Given the description of an element on the screen output the (x, y) to click on. 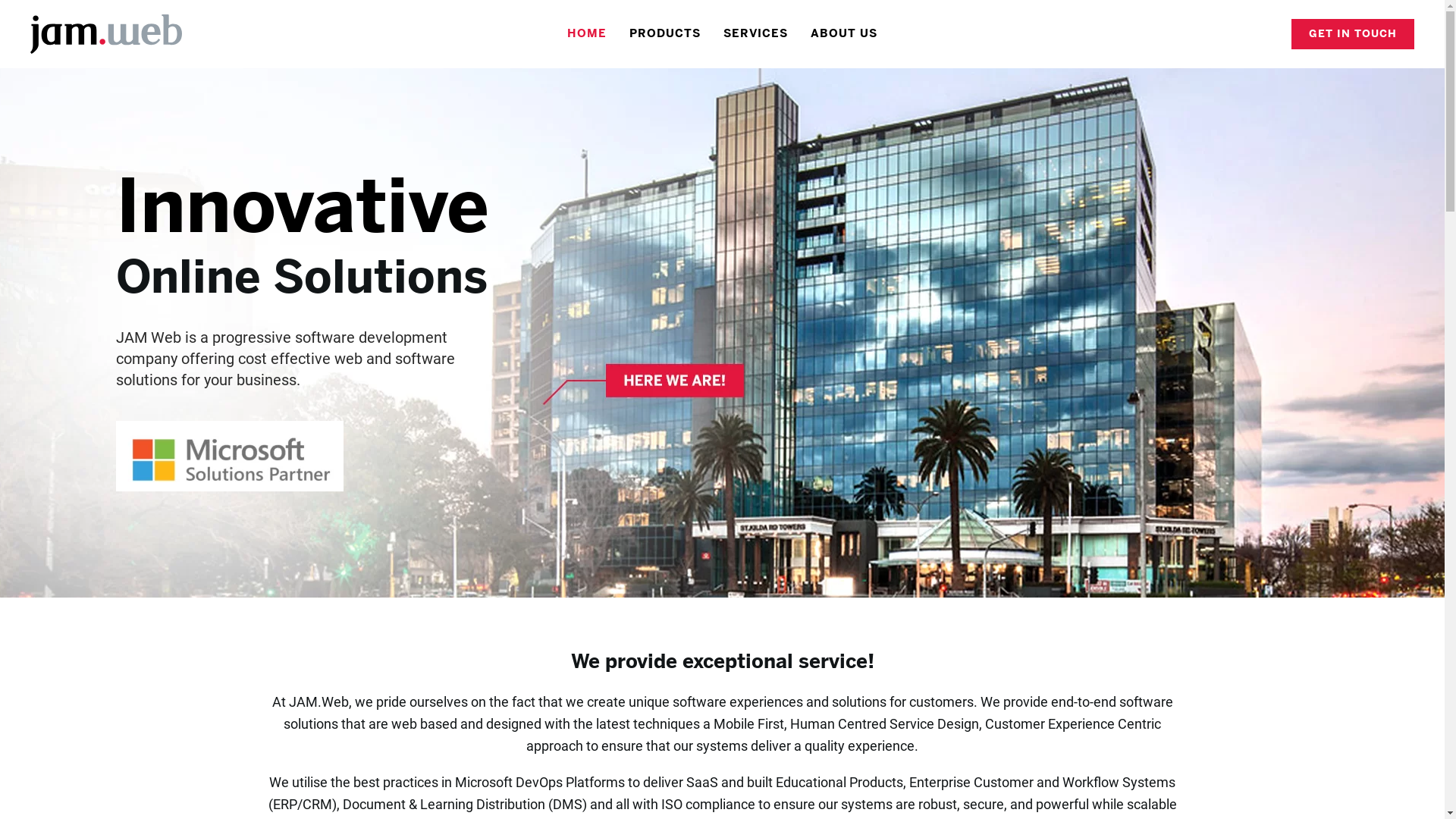
ABOUT US Element type: text (843, 34)
PRODUCTS Element type: text (665, 34)
HOME Element type: text (586, 34)
SERVICES Element type: text (755, 34)
GET IN TOUCH Element type: text (1352, 33)
